Given the description of an element on the screen output the (x, y) to click on. 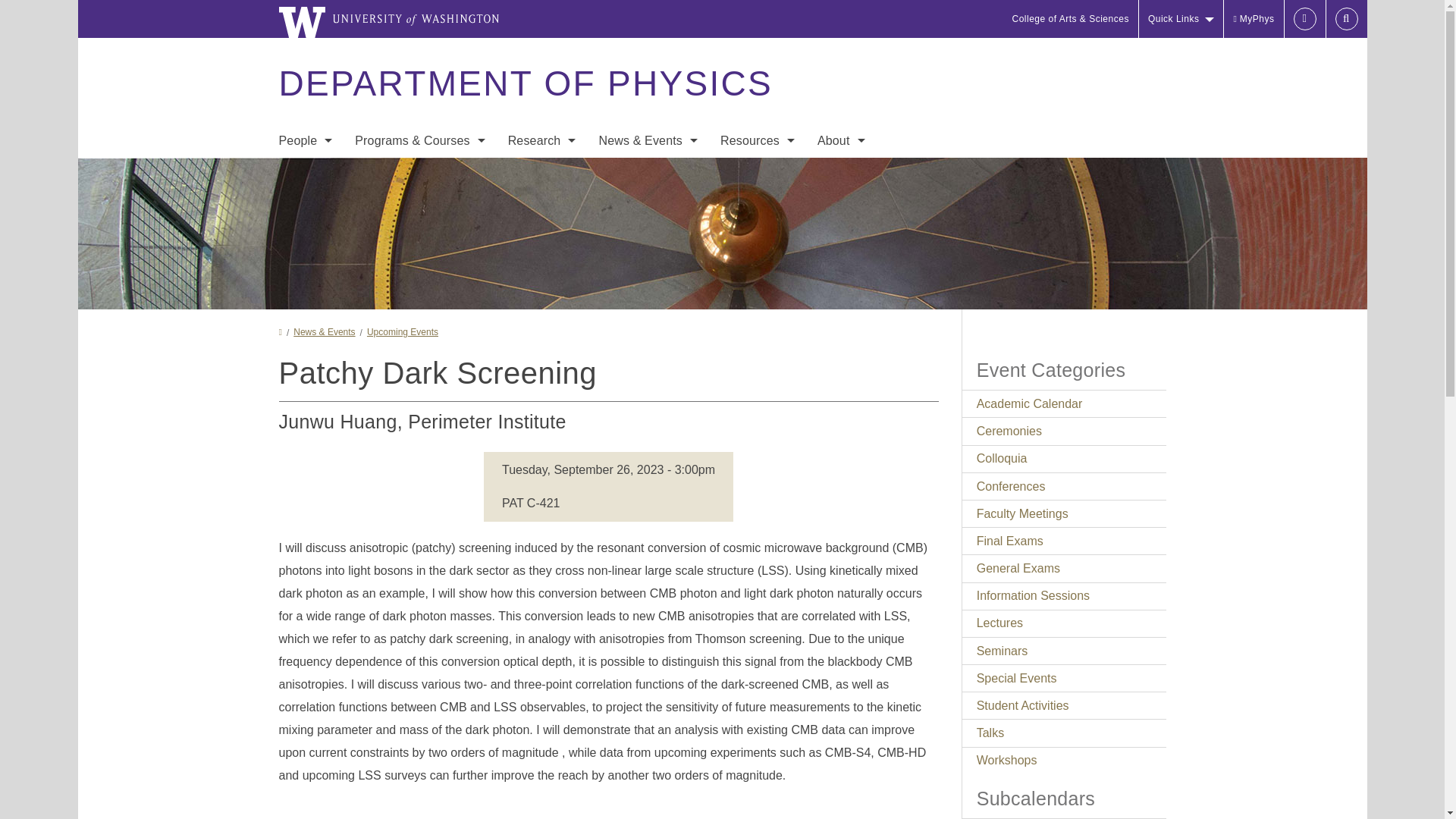
Staff (304, 233)
 MyPhys (1252, 18)
Faculty (304, 203)
DEPARTMENT OF PHYSICS (525, 83)
Quick Links (1181, 18)
Full Directory (304, 173)
B.S. Degree (419, 173)
People (304, 140)
Postdocs (304, 263)
